Given the description of an element on the screen output the (x, y) to click on. 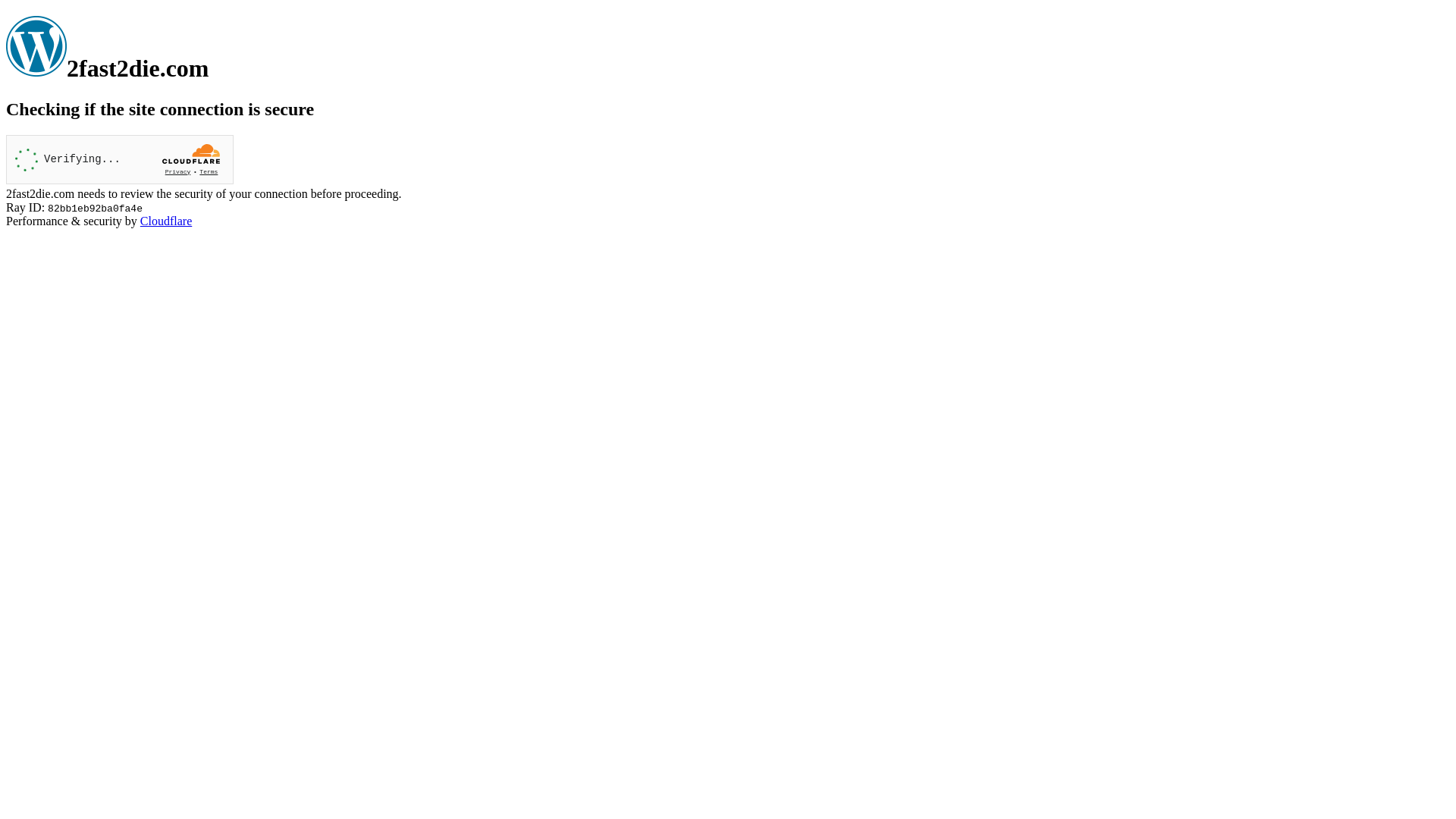
Widget containing a Cloudflare security challenge Element type: hover (119, 159)
Cloudflare Element type: text (165, 220)
